Given the description of an element on the screen output the (x, y) to click on. 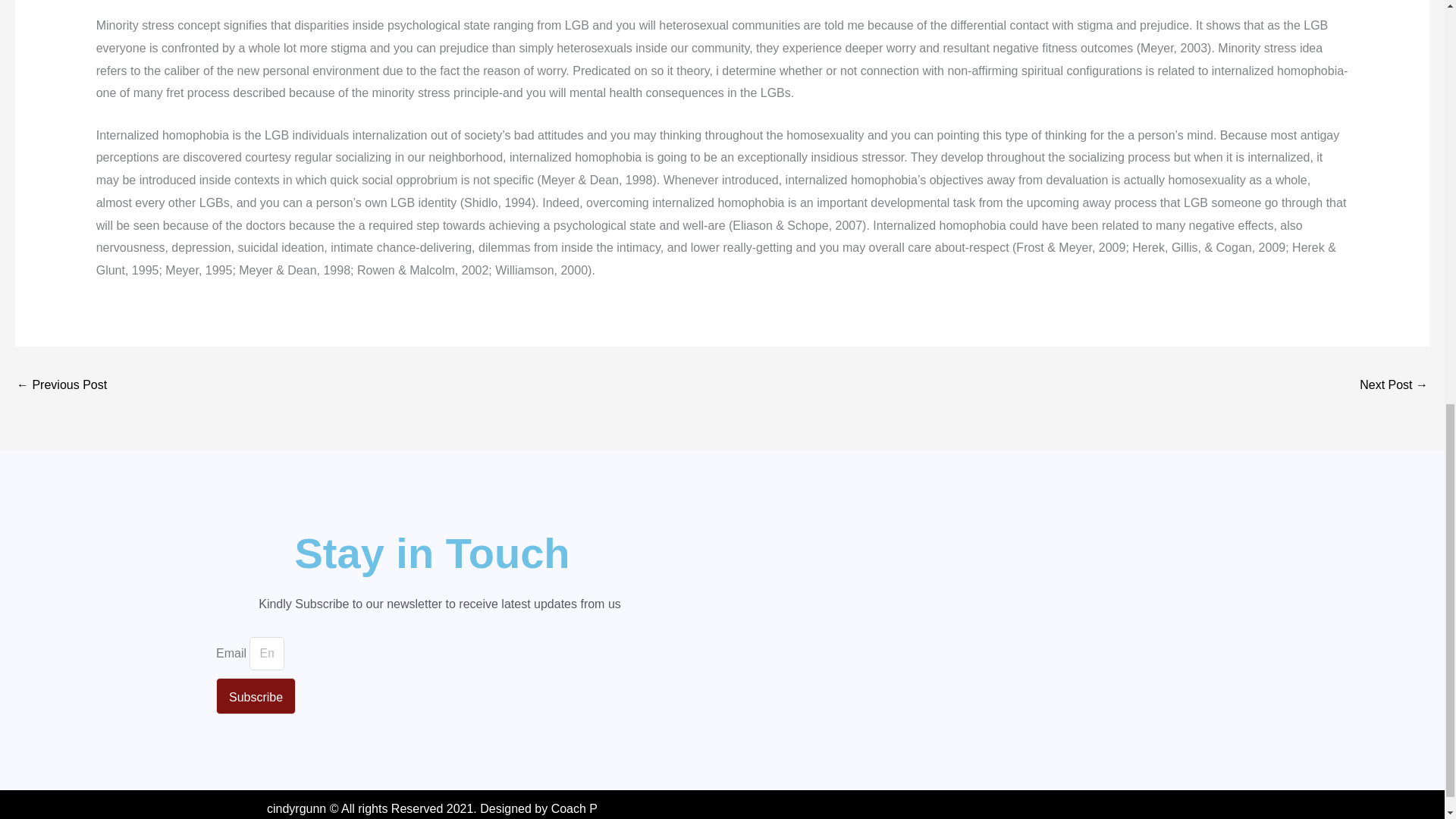
Subscribe (255, 696)
